Given the description of an element on the screen output the (x, y) to click on. 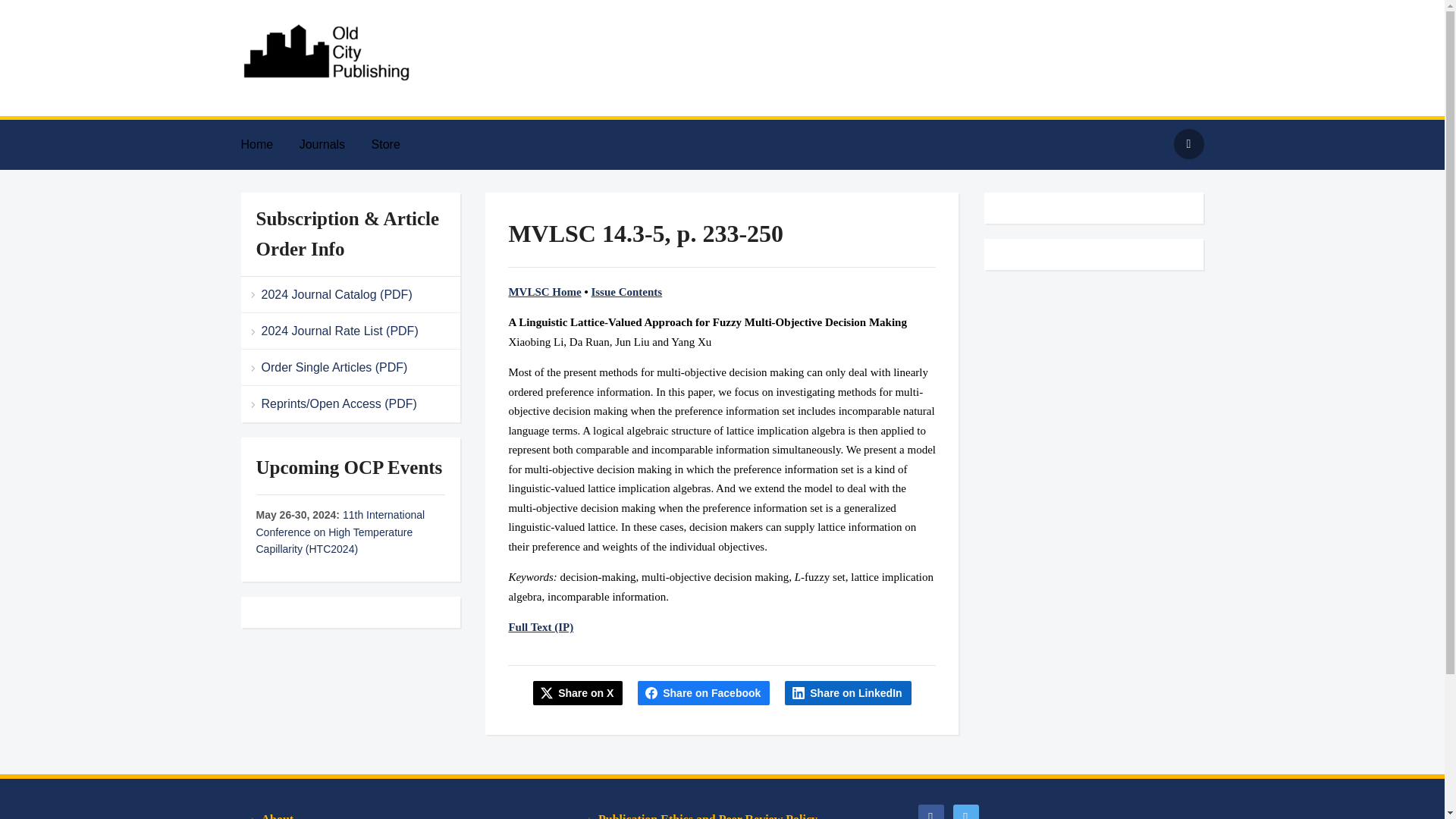
twitter (965, 814)
Share on Facebook (703, 692)
Share this on Facebook (703, 692)
MVLSC Home (544, 291)
Journals (333, 144)
Share this on X (577, 692)
Issue Contents (626, 291)
Publication Ethics and Peer Review Policy (722, 810)
Share on X (577, 692)
Share on LinkedIn (847, 692)
About (385, 810)
Share on LinkedIn (847, 692)
facebook (930, 814)
Search (1188, 143)
Home (269, 144)
